Given the description of an element on the screen output the (x, y) to click on. 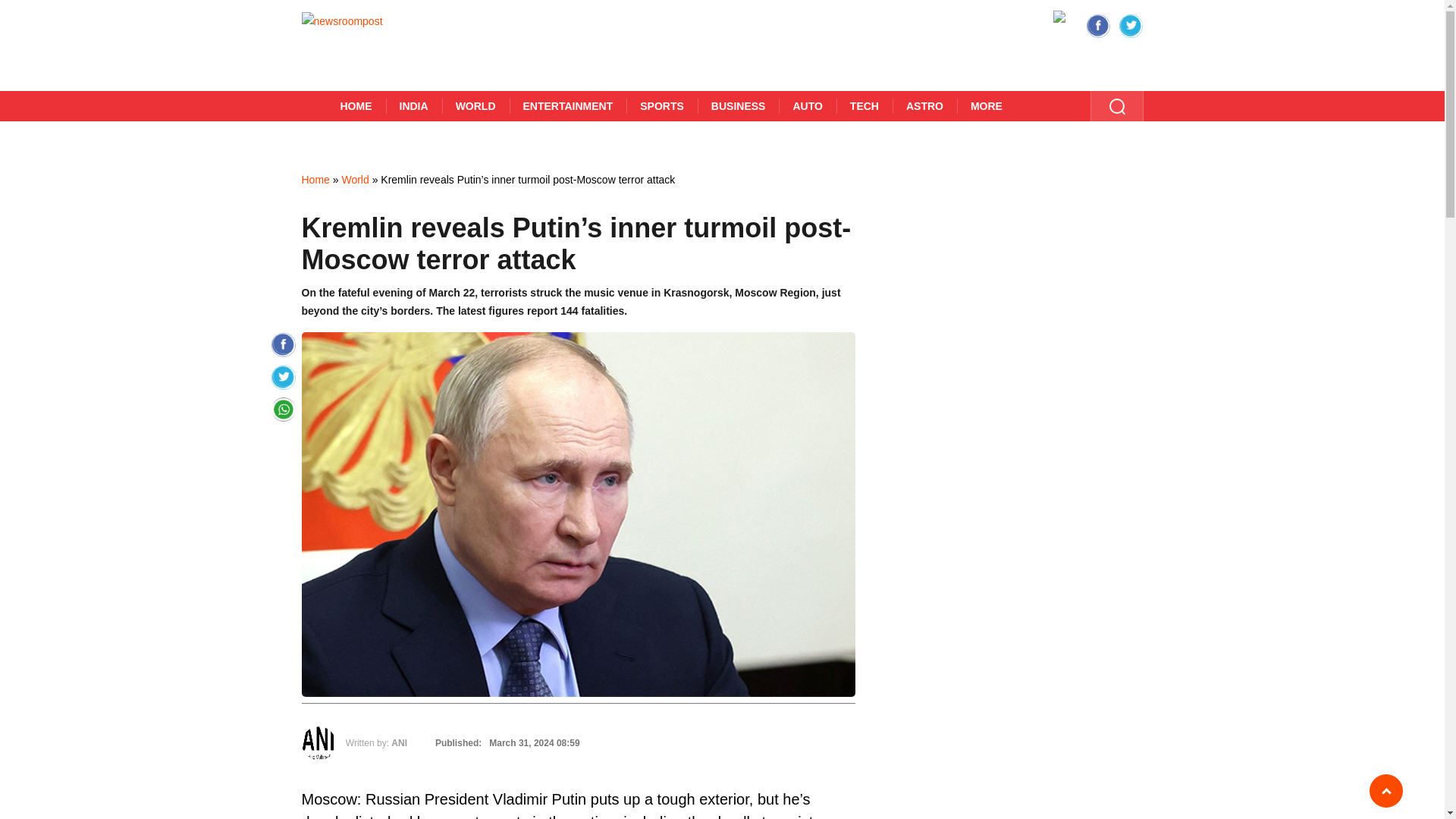
ASTRO (924, 105)
World (354, 179)
ANI (399, 742)
Posts by ANI (399, 742)
MORE (986, 105)
WORLD (475, 105)
Published:   March 31, 2024 08:59 (504, 742)
HOME (355, 105)
INDIA (413, 105)
SPORTS (661, 105)
